Given the description of an element on the screen output the (x, y) to click on. 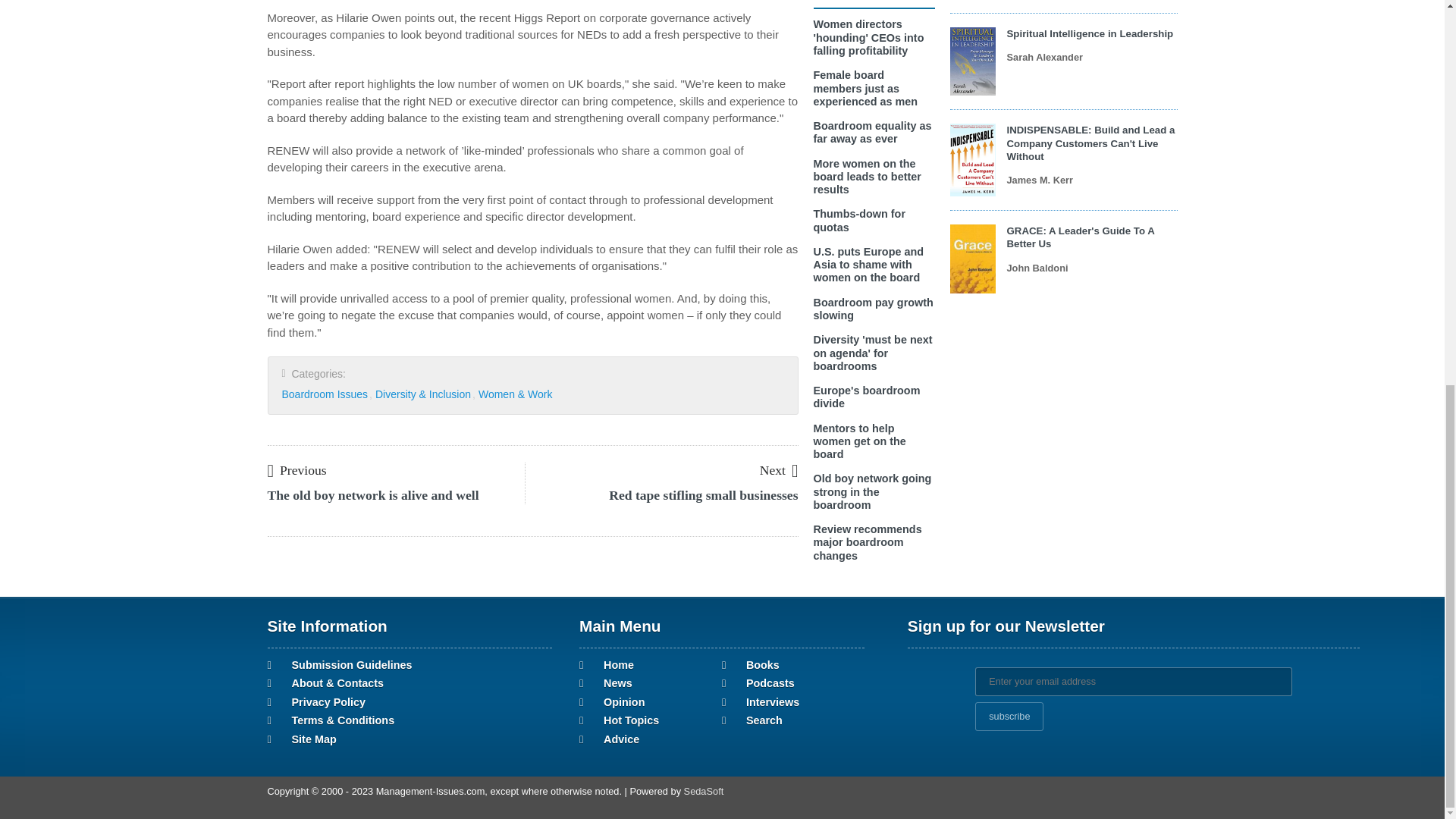
subscribe (1009, 716)
Female board members just as experienced as men (864, 87)
The old boy network is alive and well (296, 468)
The old boy network is alive and well (372, 494)
Red tape stifling small businesses (702, 494)
Red tape stifling small businesses (778, 468)
Previous (296, 468)
The old boy network is alive and well (372, 494)
Women directors 'hounding' CEOs into falling profitability (867, 37)
Next (778, 468)
